Given the description of an element on the screen output the (x, y) to click on. 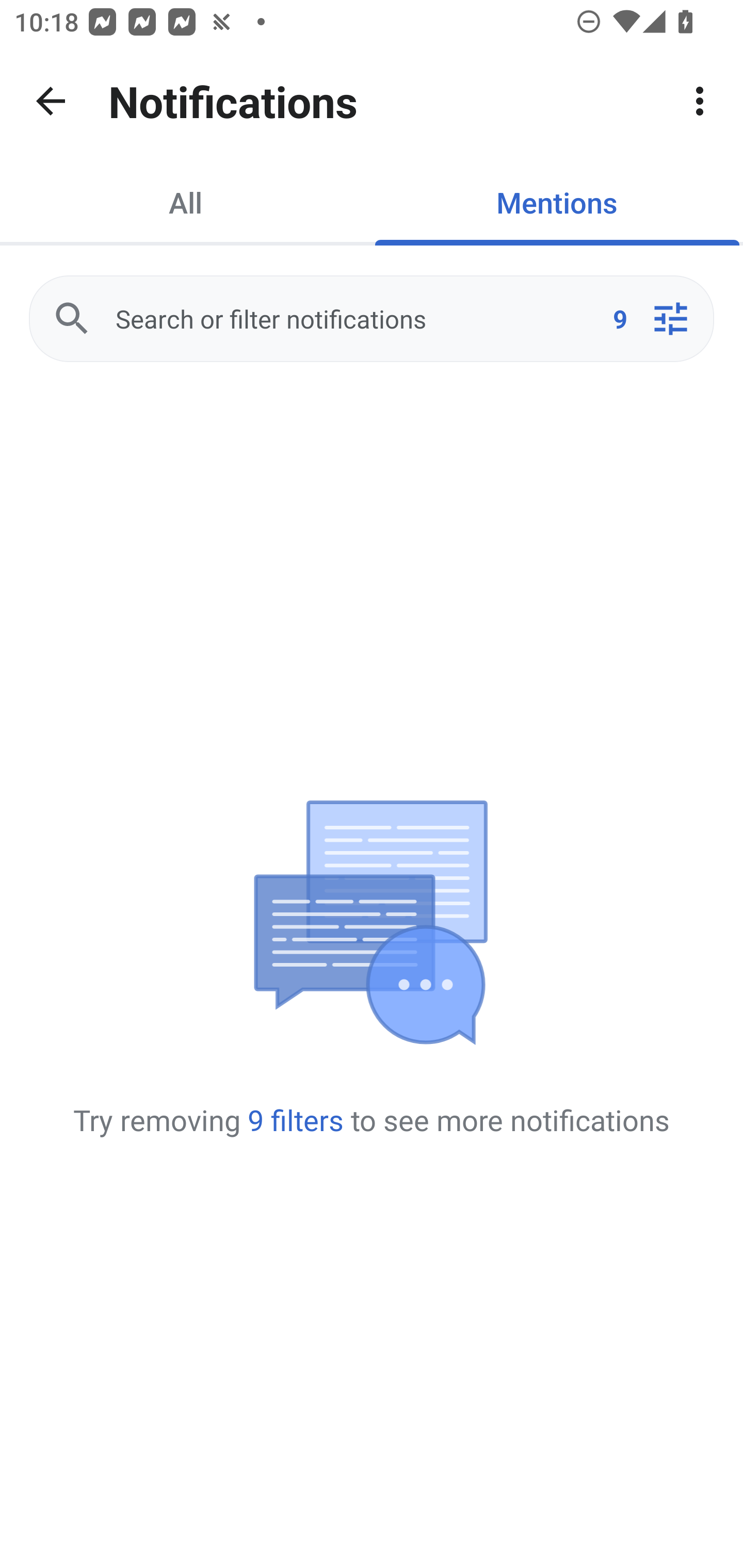
Navigate up (50, 101)
More (699, 101)
All (185, 202)
Notification filter (670, 318)
